Given the description of an element on the screen output the (x, y) to click on. 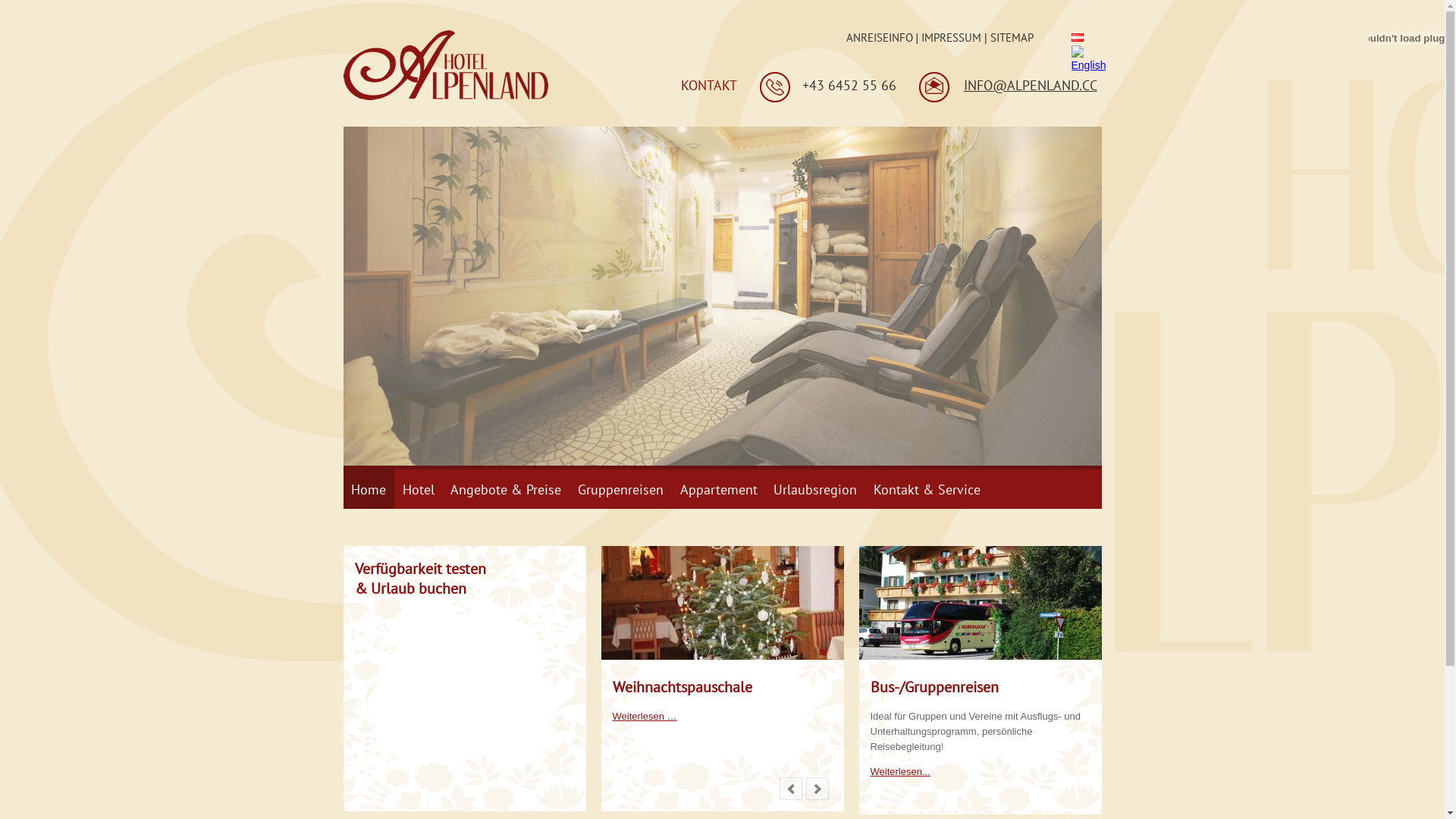
English Element type: hover (1087, 65)
Weihnachtspauschale Element type: text (682, 686)
SITEMAP Element type: text (1011, 37)
Hotel Element type: text (418, 488)
IMPRESSUM Element type: text (951, 37)
Urlaubsregion Element type: text (815, 488)
Weiterlesen... Element type: text (900, 771)
Weihnachtspauschale Element type: hover (721, 656)
Gruppenreisen Element type: text (620, 488)
ANREISEINFO Element type: text (879, 37)
Bus- und Gruppenreisen Salzburgerland Element type: hover (979, 602)
Appartement Element type: text (718, 488)
Bus- und Gruppenreisen Salzburgerland Element type: hover (979, 656)
Deutsch Element type: hover (1076, 37)
INFO@ALPENLAND.CC Element type: text (1029, 85)
Angebote & Preise Element type: text (506, 488)
Kontakt & Service Element type: text (926, 488)
